Given the description of an element on the screen output the (x, y) to click on. 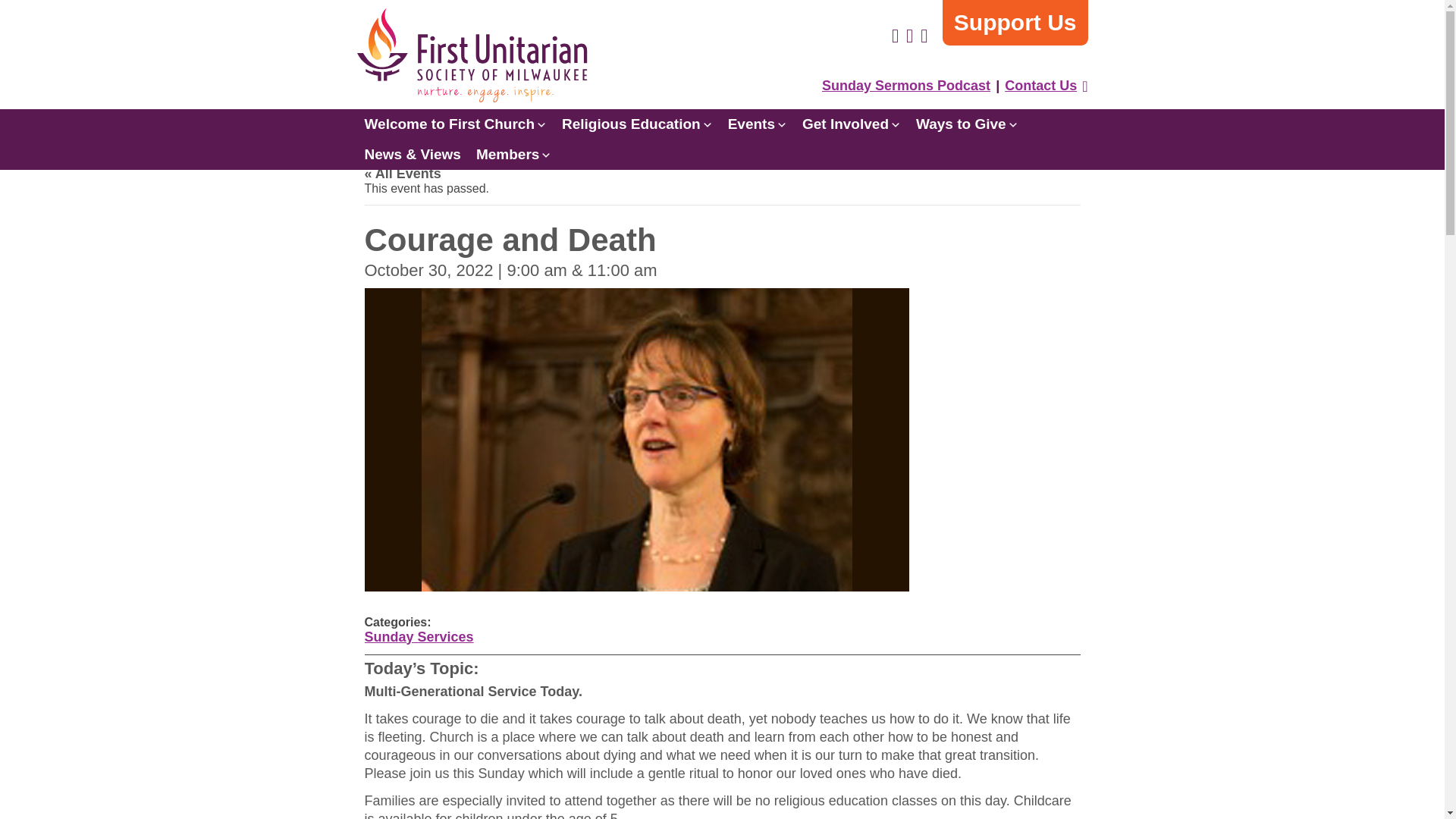
Contact Us (1039, 85)
Support Us (1014, 22)
Events (757, 123)
Religious Education (637, 123)
Welcome to First Church (455, 123)
Sunday Sermons Podcast (905, 85)
Get Involved (851, 123)
